Given the description of an element on the screen output the (x, y) to click on. 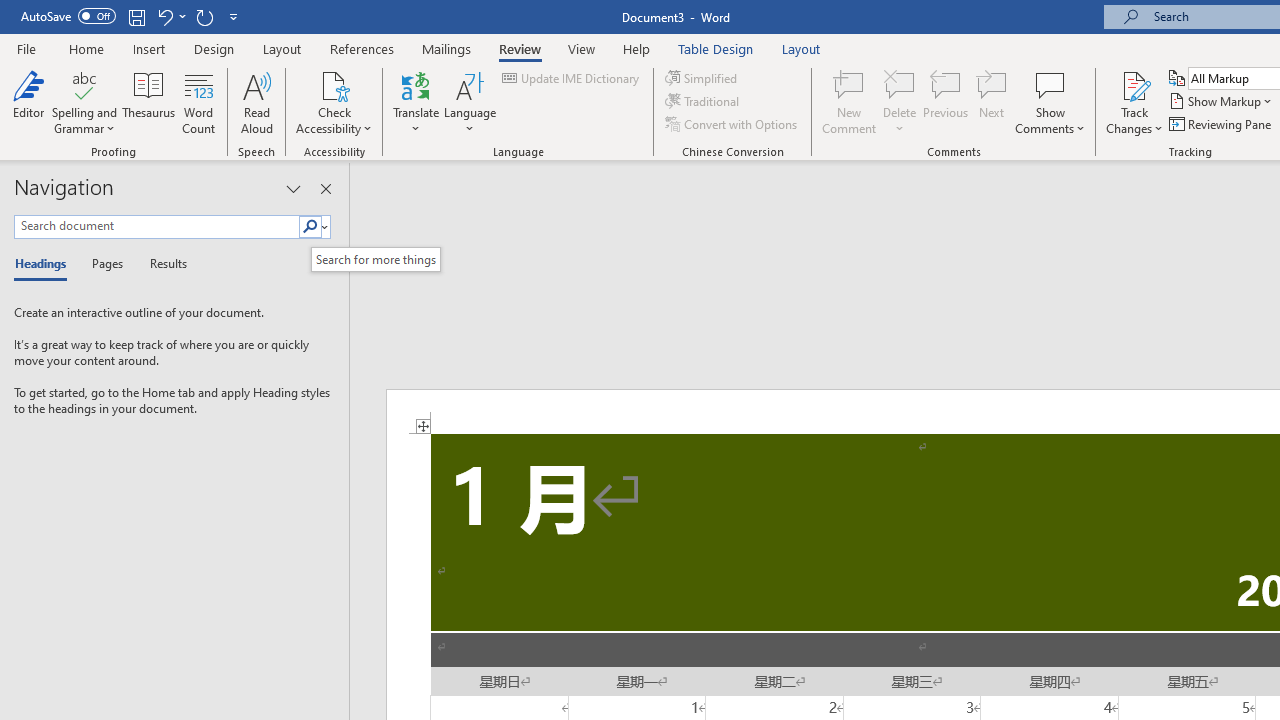
Simplified (702, 78)
Delete (900, 102)
Update IME Dictionary... (572, 78)
Track Changes (1134, 84)
Next (991, 102)
